Given the description of an element on the screen output the (x, y) to click on. 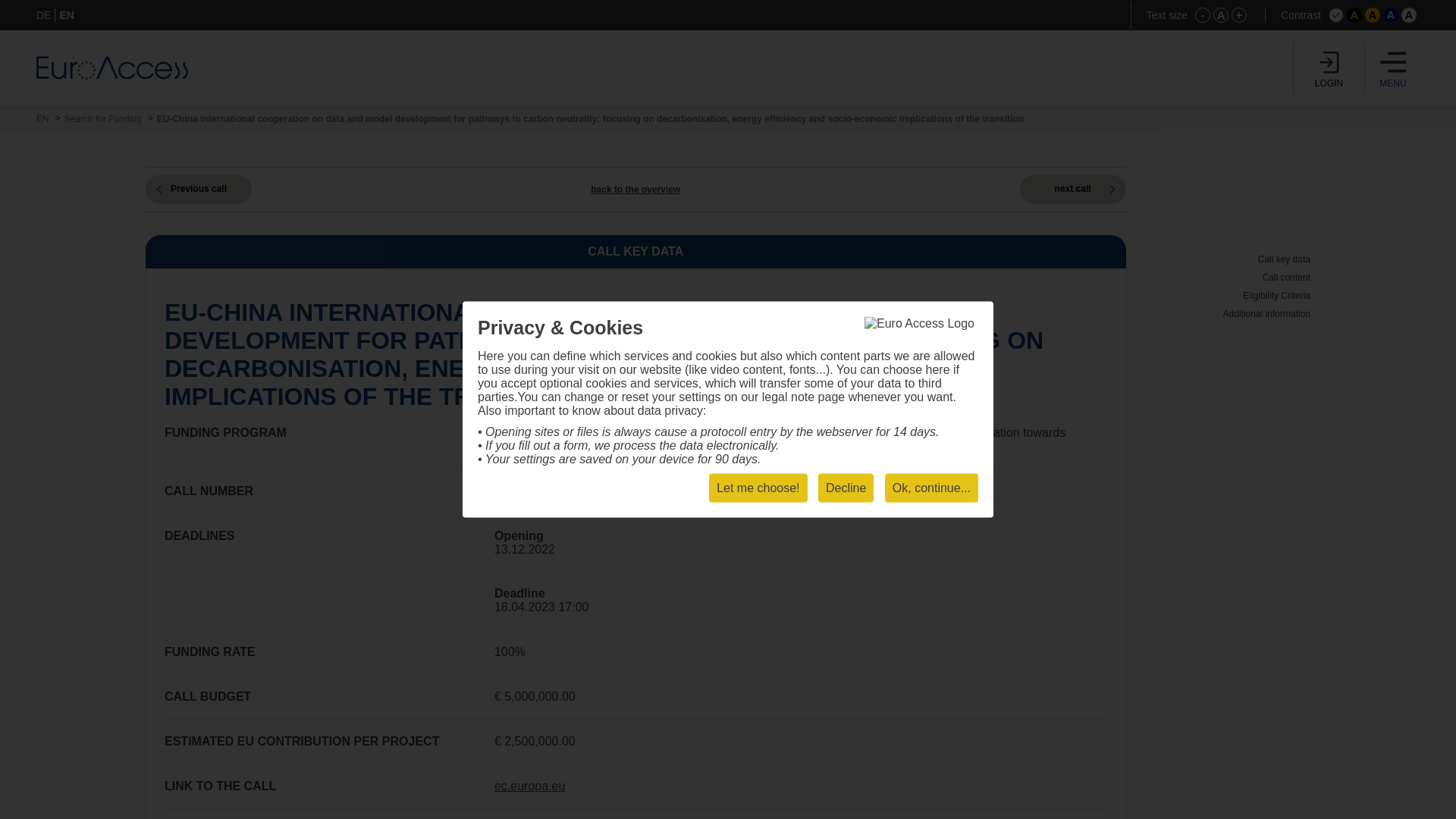
Search for Funding (102, 118)
A (1220, 14)
- (1202, 14)
EN (66, 15)
DE (43, 15)
Yellow on black (1353, 14)
A (1353, 14)
A (1372, 14)
MENU (1393, 68)
Black on yellow (1372, 14)
Search for Funding (102, 118)
A (1390, 14)
Zur Startseite (111, 67)
EN (42, 118)
EN (42, 118)
